Given the description of an element on the screen output the (x, y) to click on. 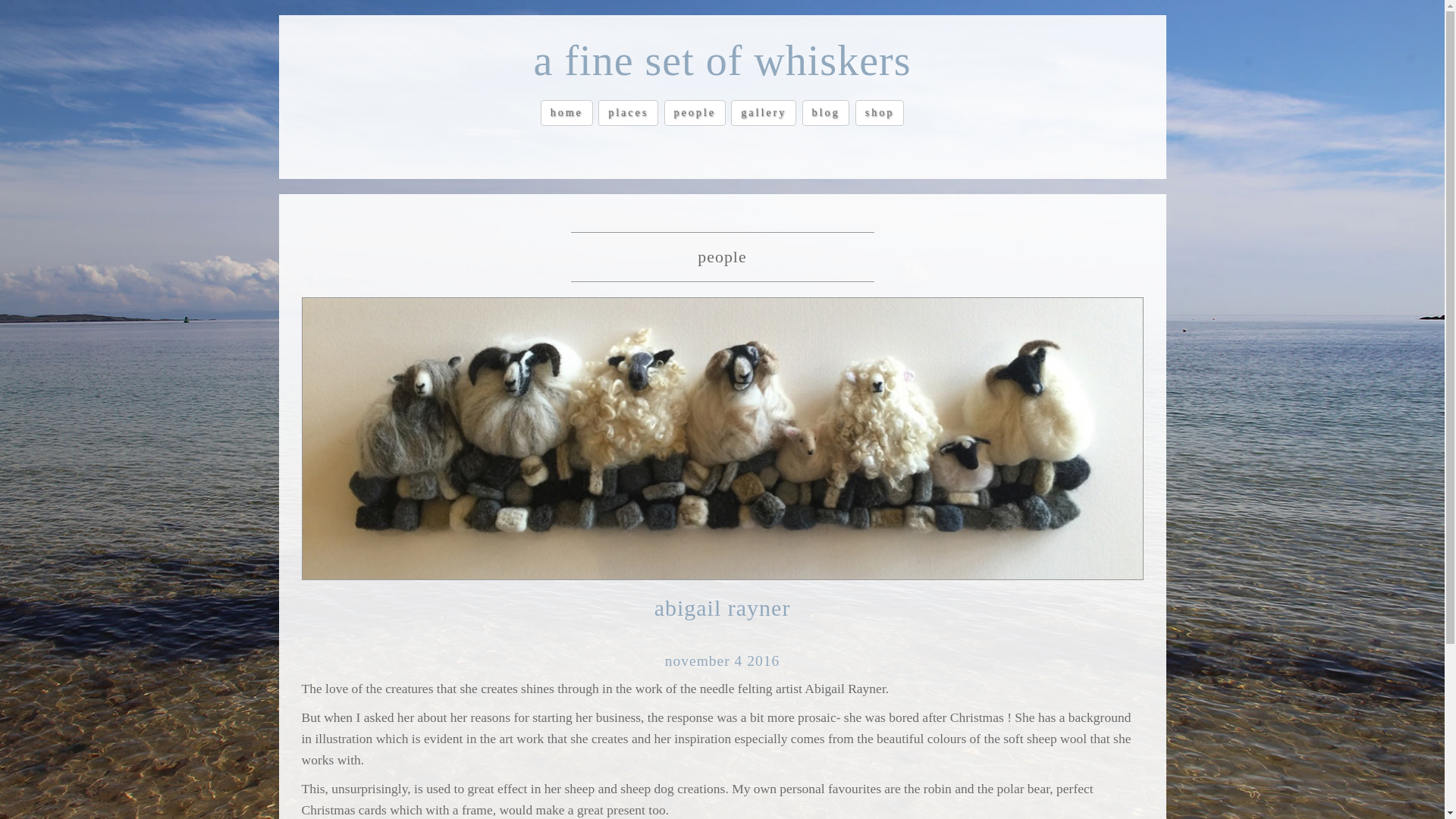
people (694, 112)
gallery (763, 112)
home (566, 112)
blog (826, 112)
places (628, 112)
shop (880, 112)
